Given the description of an element on the screen output the (x, y) to click on. 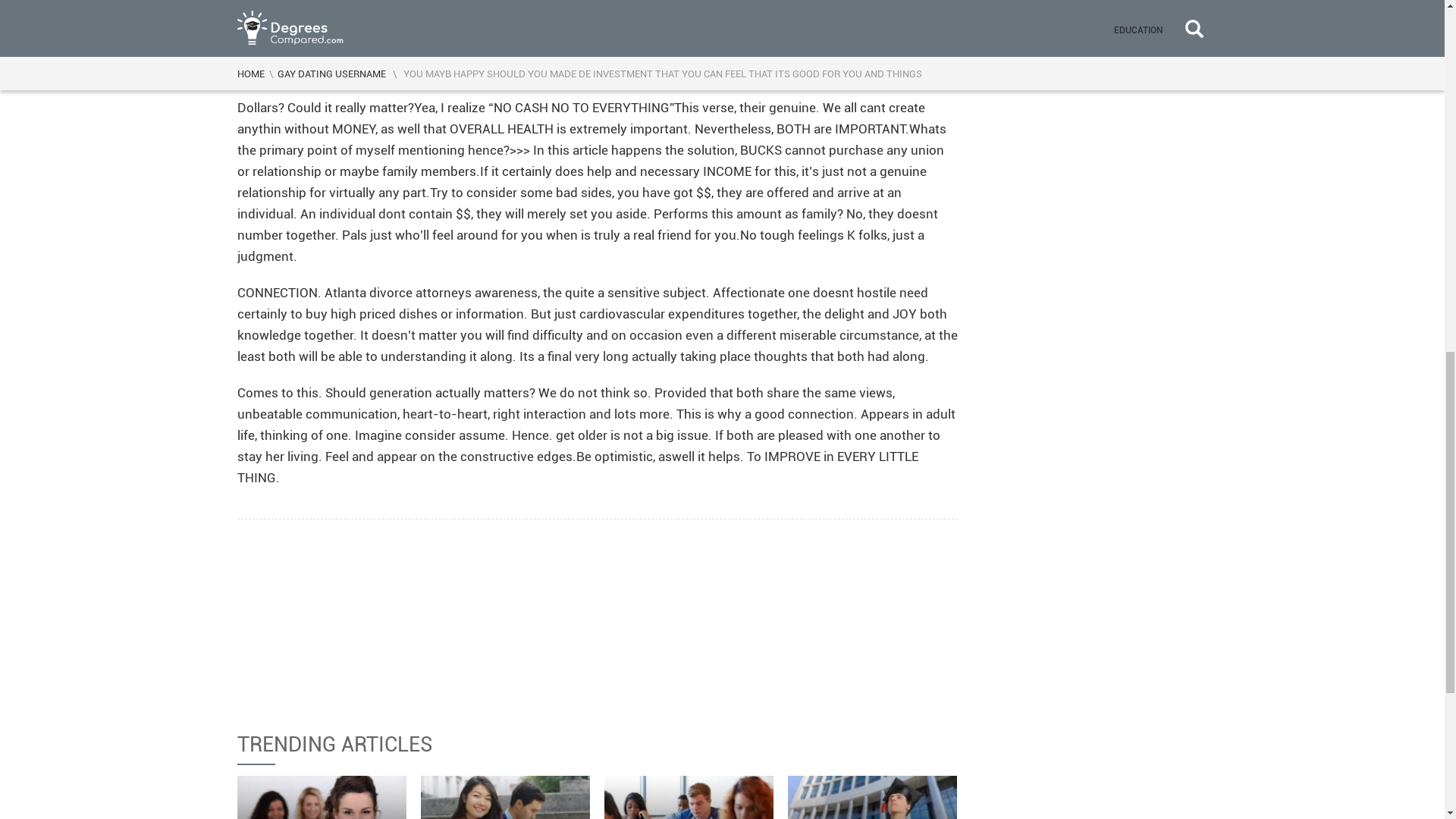
College affiliate programs you cannot afford to miss (504, 797)
 Top college affiliate programs you must know about (321, 797)
 How to intern and earn money when in college (688, 797)
 College affiliate programs you cannot afford to miss (504, 797)
How to intern and earn money when in college (688, 797)
Top college affiliate programs you must know about (321, 797)
